Given the description of an element on the screen output the (x, y) to click on. 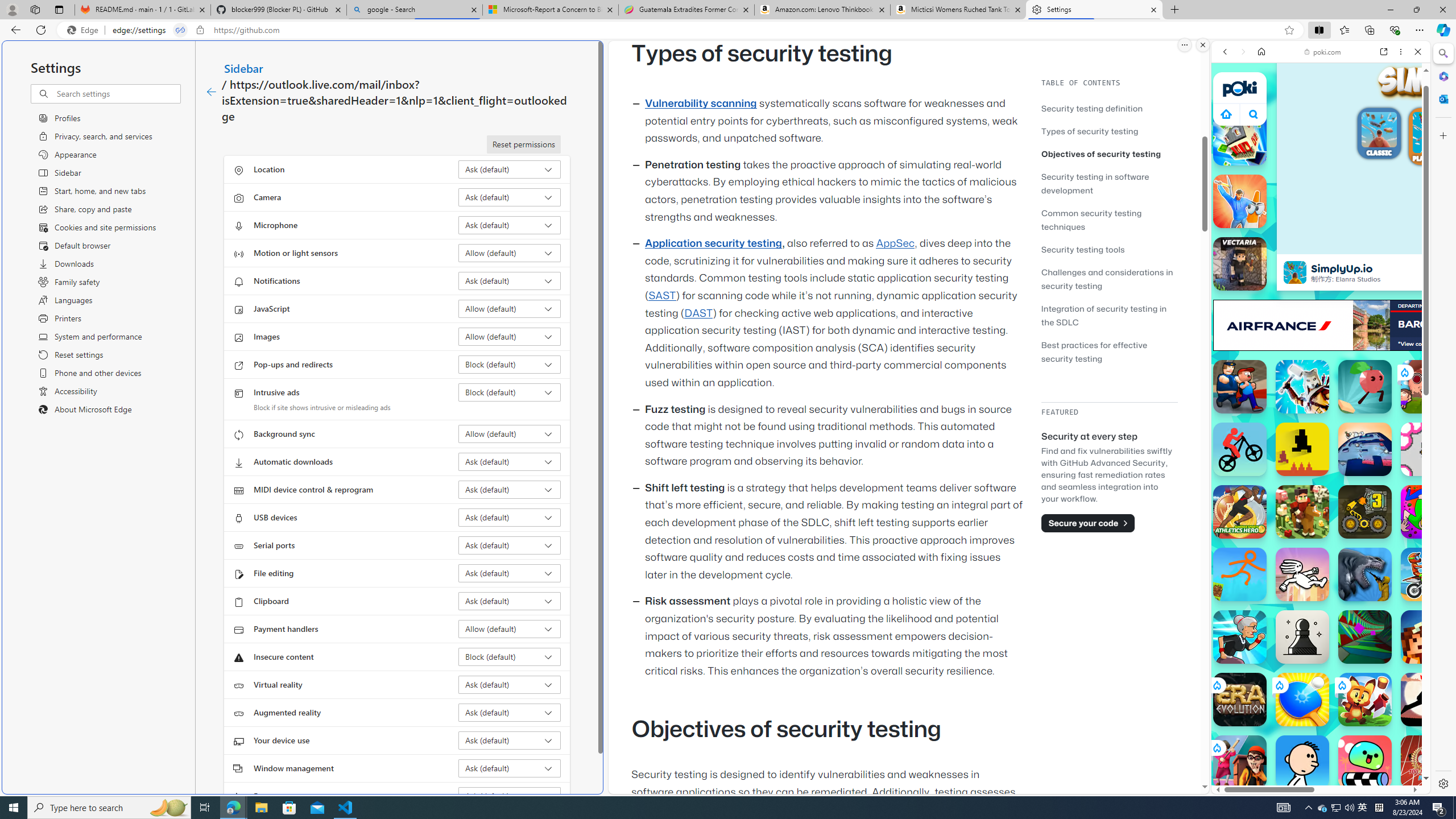
Car Games (1320, 267)
Types of security testing (1089, 130)
poki.com (1322, 51)
Combat Reloaded (1348, 574)
Search Filter, IMAGES (1262, 129)
Integration of security testing in the SDLC (1109, 315)
WEB   (1230, 130)
Simply Prop Hunt (1239, 200)
Poki (1315, 754)
Security testing definition (1109, 108)
Virtual reality Ask (default) (509, 684)
